Given the description of an element on the screen output the (x, y) to click on. 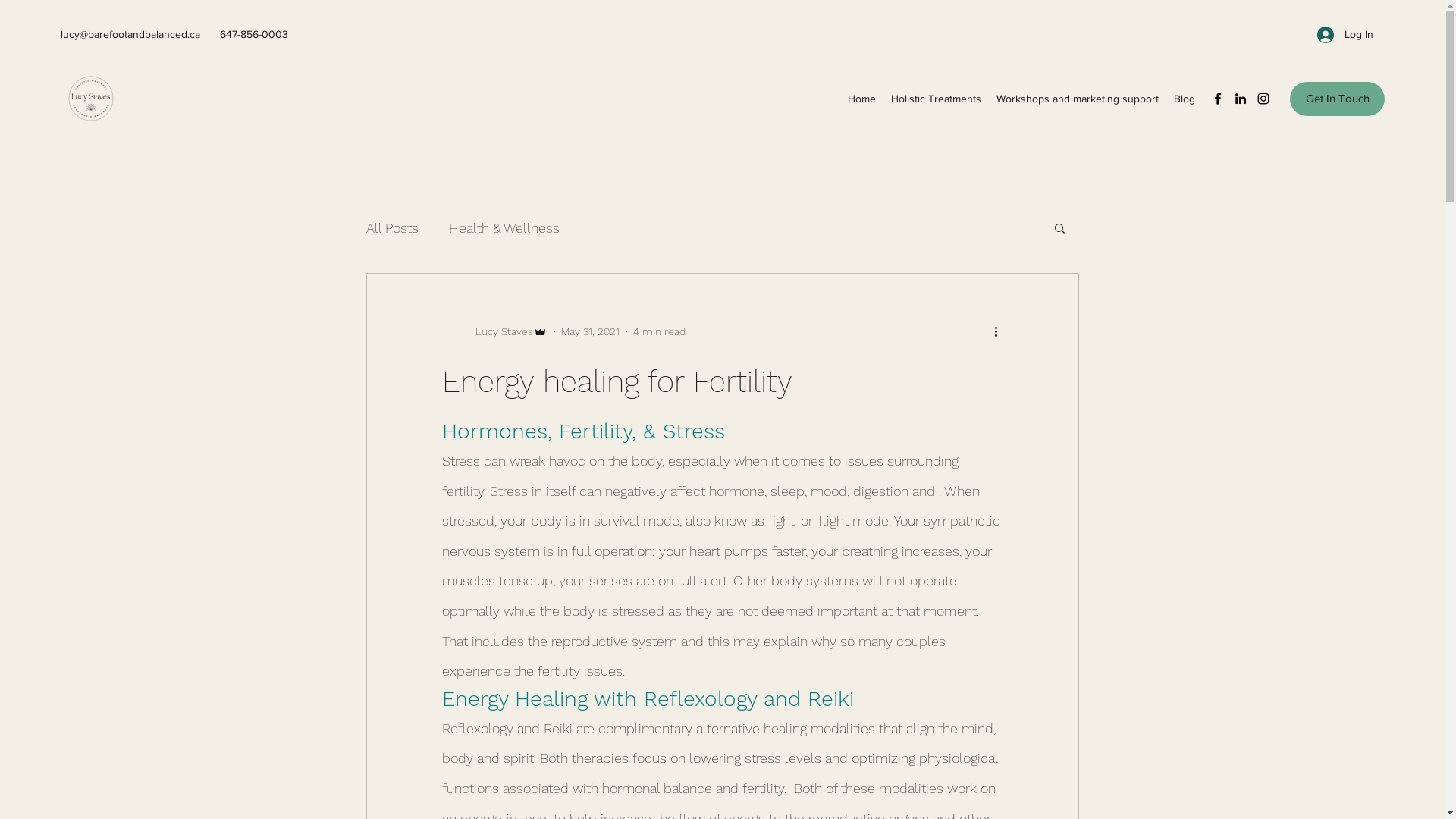
Workshops and marketing support Element type: text (1077, 116)
lucy@barefootandbalanced.ca Element type: text (129, 43)
Health & Wellness Element type: text (505, 246)
fertility assistance Element type: text (869, 549)
reflexology oakville Element type: text (694, 513)
reflexologist oakville Element type: text (575, 513)
reflexology Element type: text (476, 513)
All Posts Element type: text (391, 246)
Blog Element type: text (1184, 116)
fertility assistance oakville Element type: text (610, 549)
Lucy Staves Element type: text (493, 349)
Log In Element type: text (1344, 34)
Get In Touch Element type: text (1336, 117)
Holistic Treatments Element type: text (936, 116)
fertility reflexology oakville Element type: text (882, 513)
Home Element type: text (862, 116)
tility reflexology Element type: text (487, 549)
tural ways to conceive Element type: text (749, 549)
fertility Element type: text (780, 513)
